Given the description of an element on the screen output the (x, y) to click on. 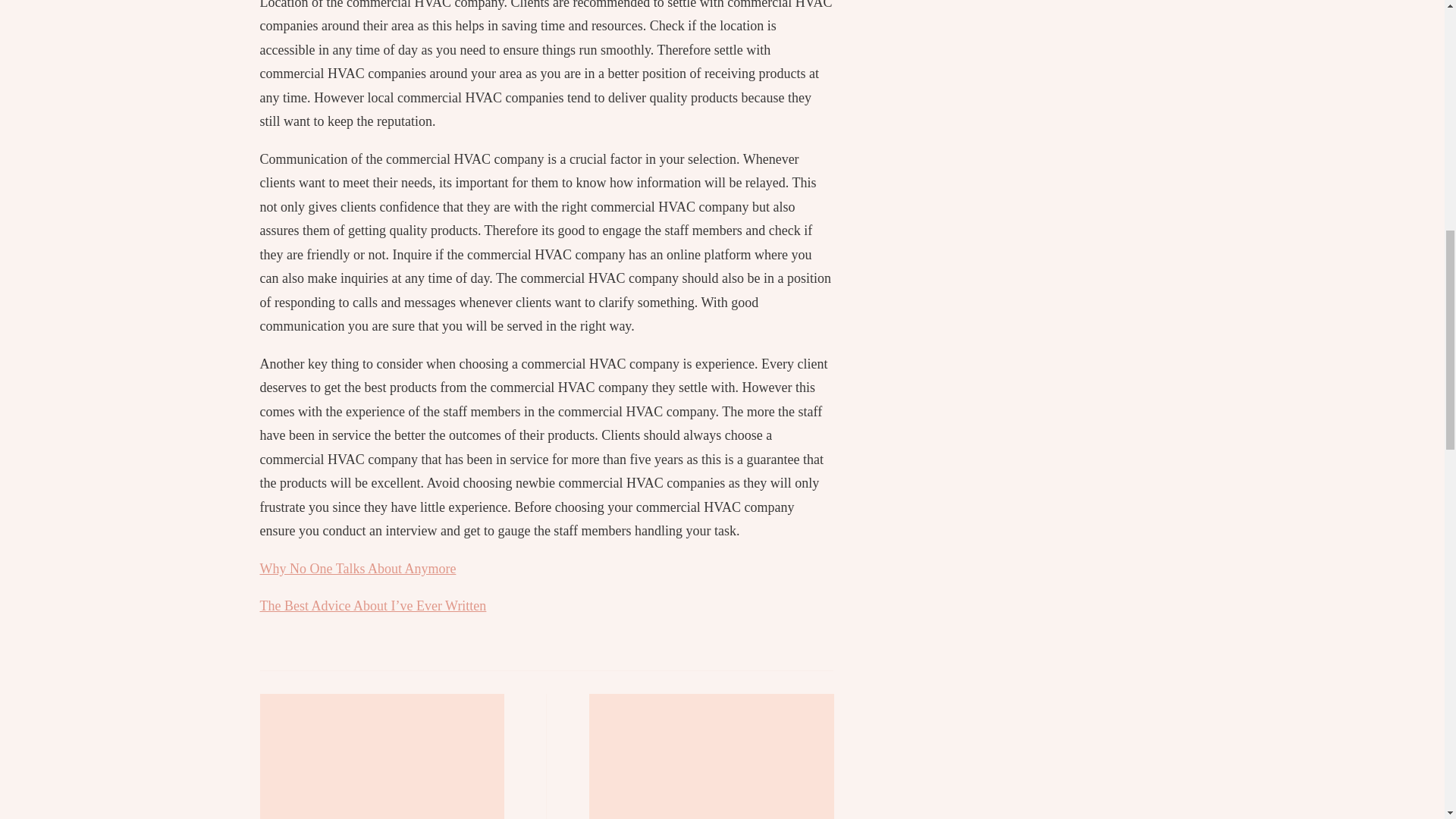
Why No One Talks About Anymore (357, 568)
